Given the description of an element on the screen output the (x, y) to click on. 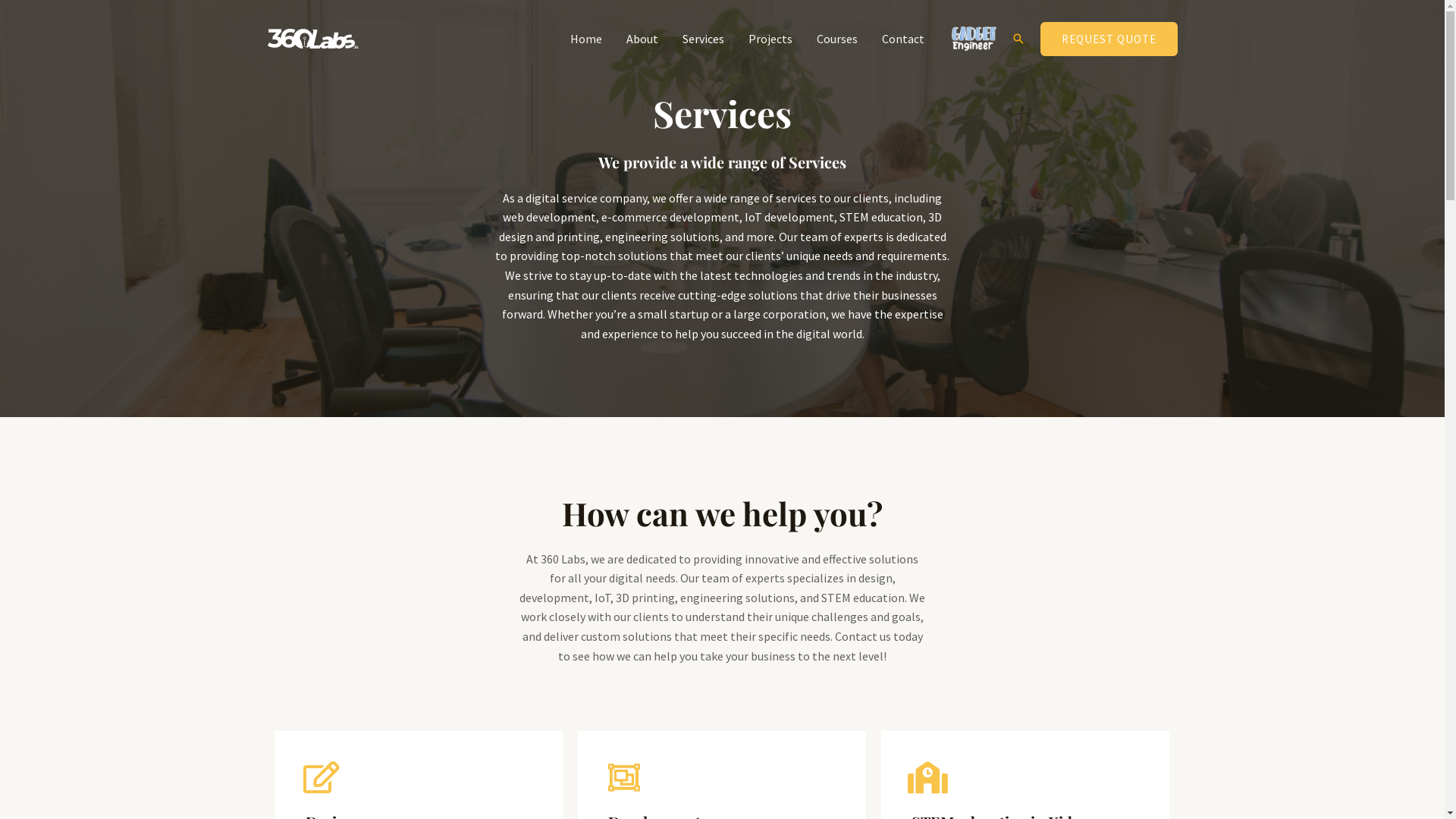
Contact Element type: text (902, 38)
Courses Element type: text (836, 38)
Projects Element type: text (769, 38)
Services Element type: text (703, 38)
About Element type: text (642, 38)
REQUEST QUOTE Element type: text (1108, 38)
Home Element type: text (586, 38)
